Given the description of an element on the screen output the (x, y) to click on. 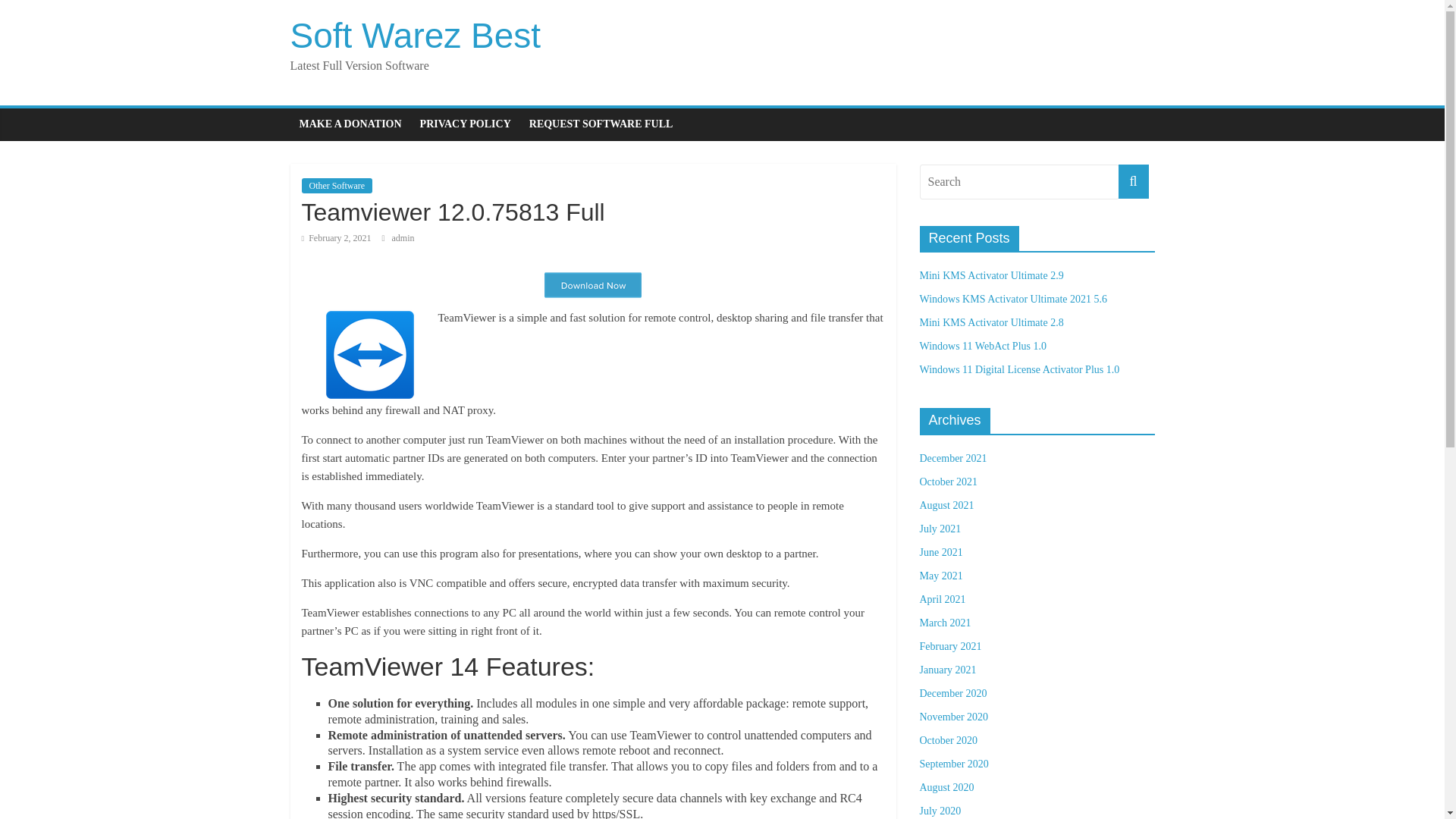
Windows 11 Digital License Activator Plus 1.0 (1018, 369)
May 2021 (940, 575)
6:41 pm (336, 237)
admin (402, 237)
March 2021 (944, 622)
Windows 11 WebAct Plus 1.0 (981, 346)
November 2020 (953, 716)
October 2021 (947, 481)
Windows KMS Activator Ultimate 2021 5.6 (1012, 298)
Soft Warez Best (414, 35)
Other Software (336, 185)
MAKE A DONATION (349, 124)
Soft Warez Best (414, 35)
June 2021 (940, 552)
Mini KMS Activator Ultimate 2.8 (990, 322)
